Given the description of an element on the screen output the (x, y) to click on. 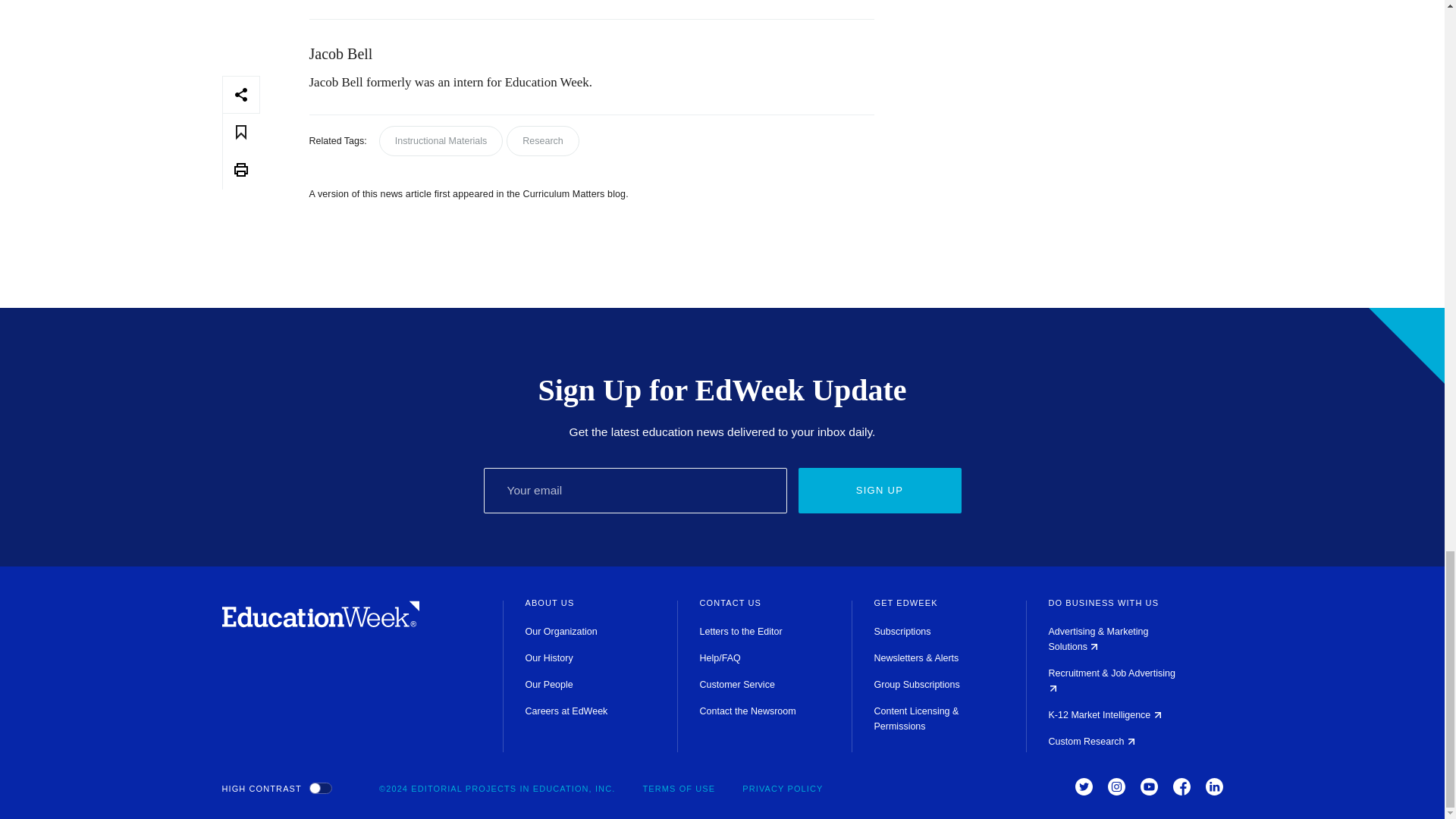
Homepage (320, 623)
